Given the description of an element on the screen output the (x, y) to click on. 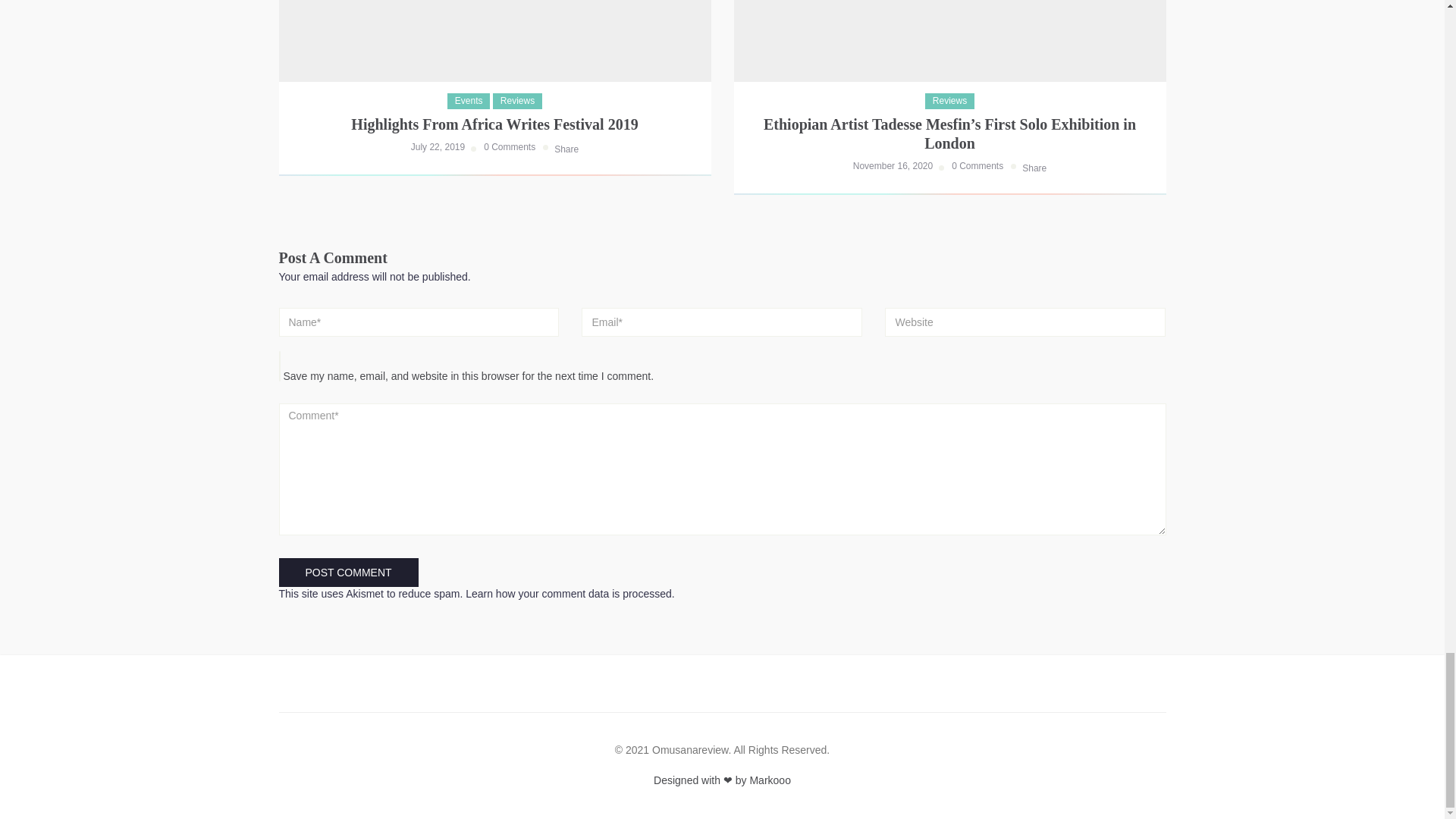
Post Comment (349, 572)
